Given the description of an element on the screen output the (x, y) to click on. 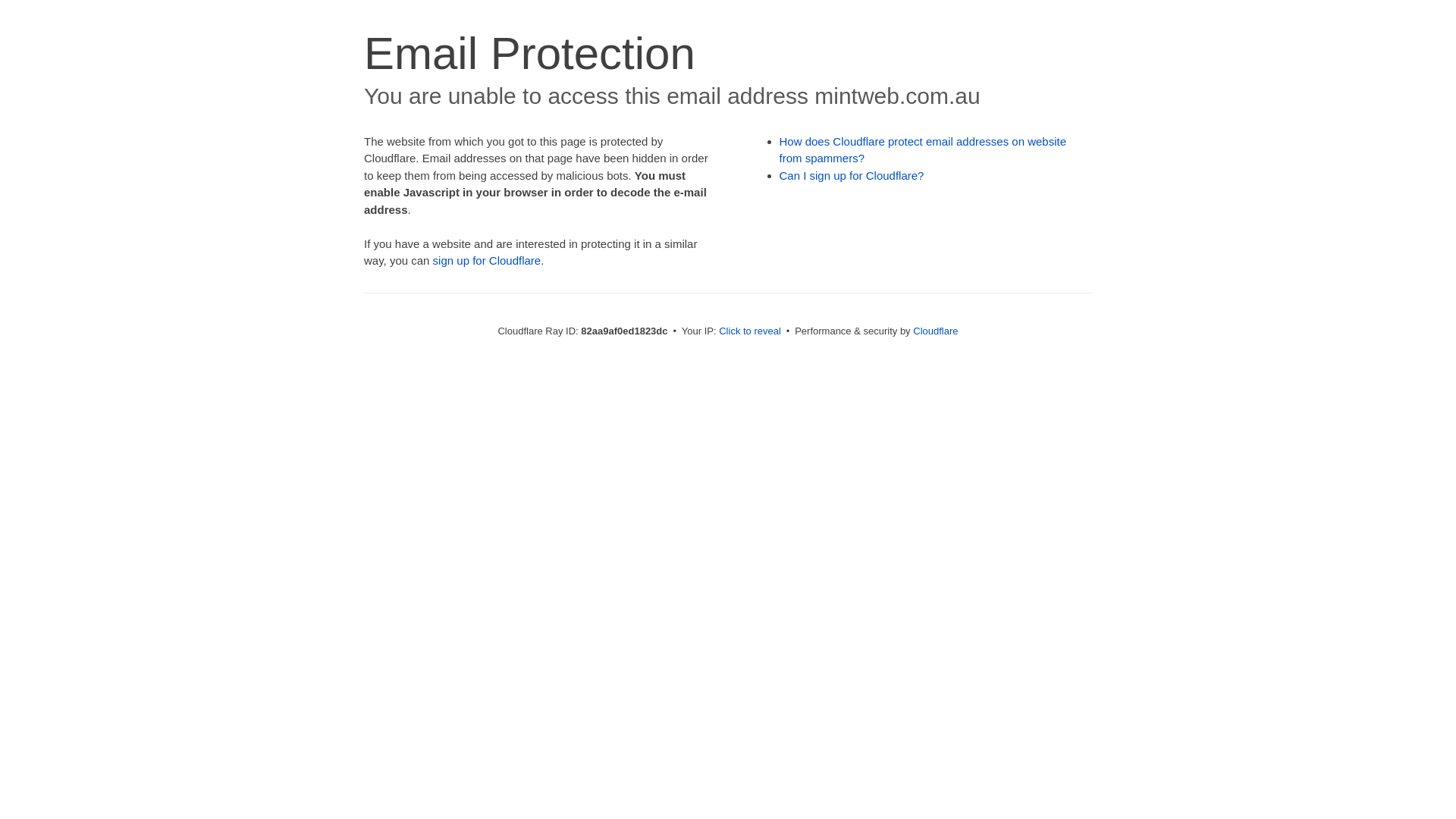
Click to reveal Element type: text (749, 330)
sign up for Cloudflare Element type: text (487, 260)
Can I sign up for Cloudflare? Element type: text (851, 175)
Cloudflare Element type: text (935, 330)
